Given the description of an element on the screen output the (x, y) to click on. 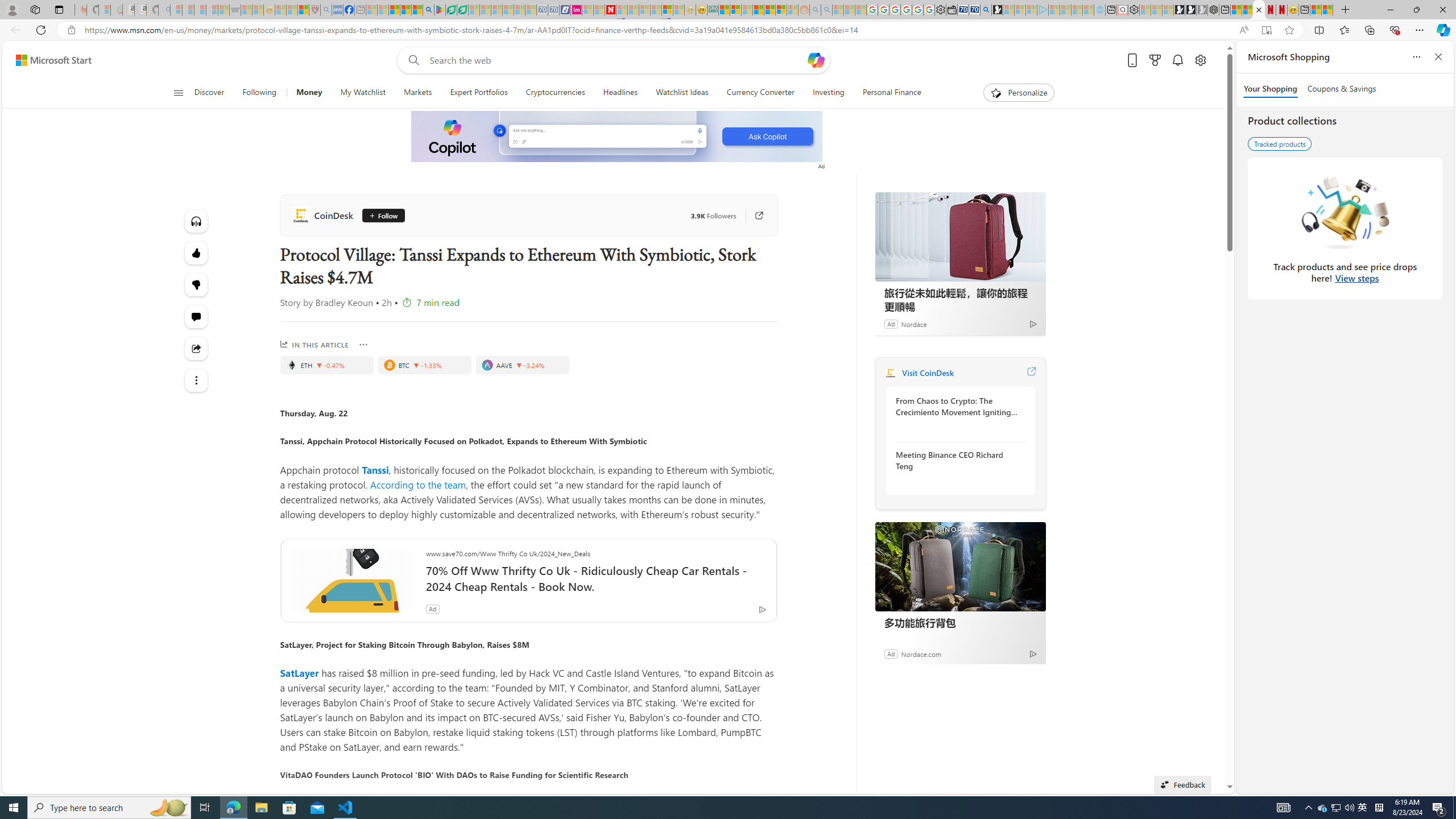
Currency Converter (760, 92)
Go to publisher's site (752, 215)
CoinDesk (889, 372)
Cryptocurrencies (555, 92)
Wildlife - MSN (1315, 9)
Nordace.com (920, 653)
